Given the description of an element on the screen output the (x, y) to click on. 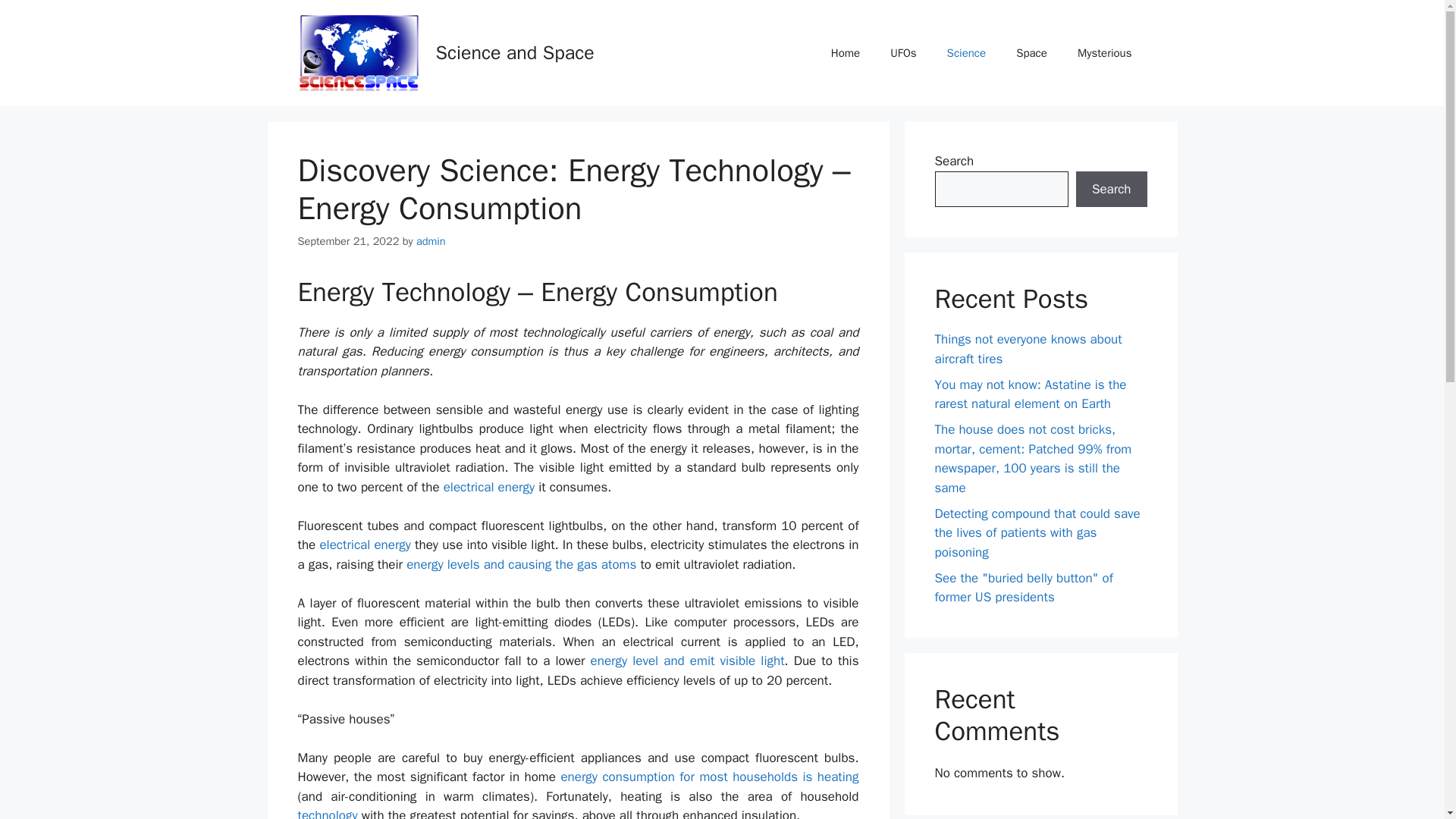
Mysterious (1104, 53)
admin (430, 241)
energy level and emit visible light (687, 660)
technology (326, 813)
electrical energy (489, 487)
energy consumption for most households is heating (709, 776)
Space (1031, 53)
Things not everyone knows about aircraft tires (1027, 348)
View all posts by admin (430, 241)
